Given the description of an element on the screen output the (x, y) to click on. 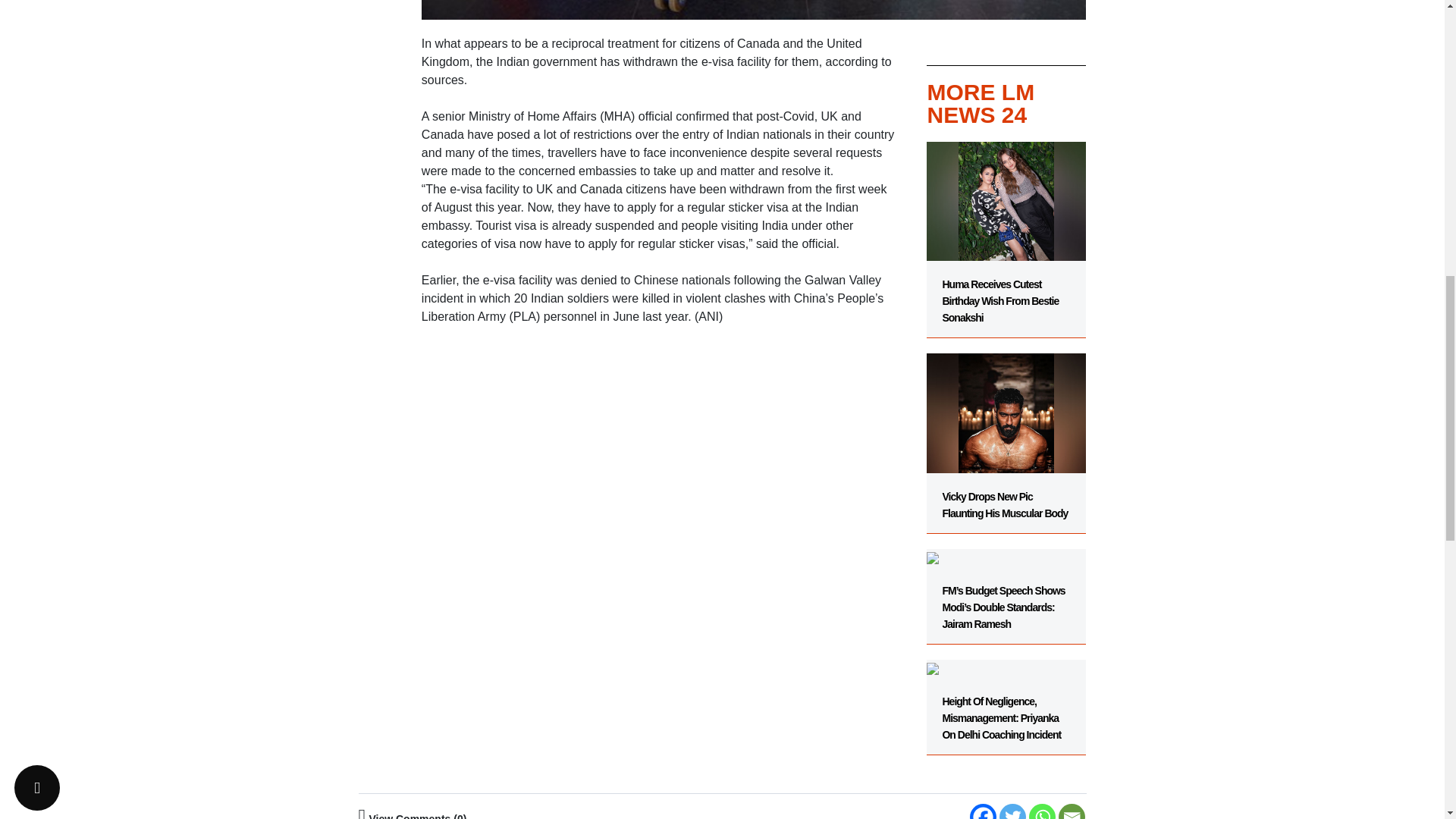
Huma Receives Cutest Birthday Wish From Bestie Sonakshi (1006, 240)
Vicky Drops New Pic Flaunting His Muscular Body (1006, 435)
